Given the description of an element on the screen output the (x, y) to click on. 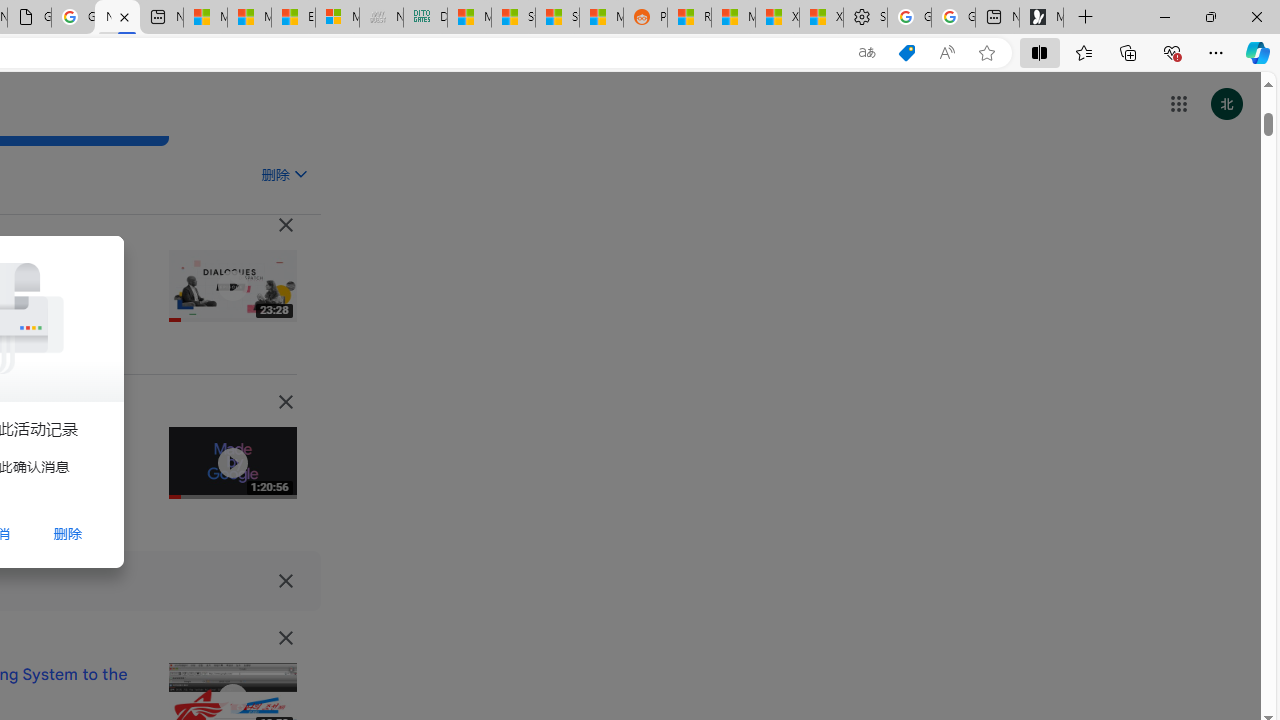
Class: DI7Mnf NMm5M (285, 580)
R******* | Trusted Community Engagement and Contributions (689, 17)
